Given the description of an element on the screen output the (x, y) to click on. 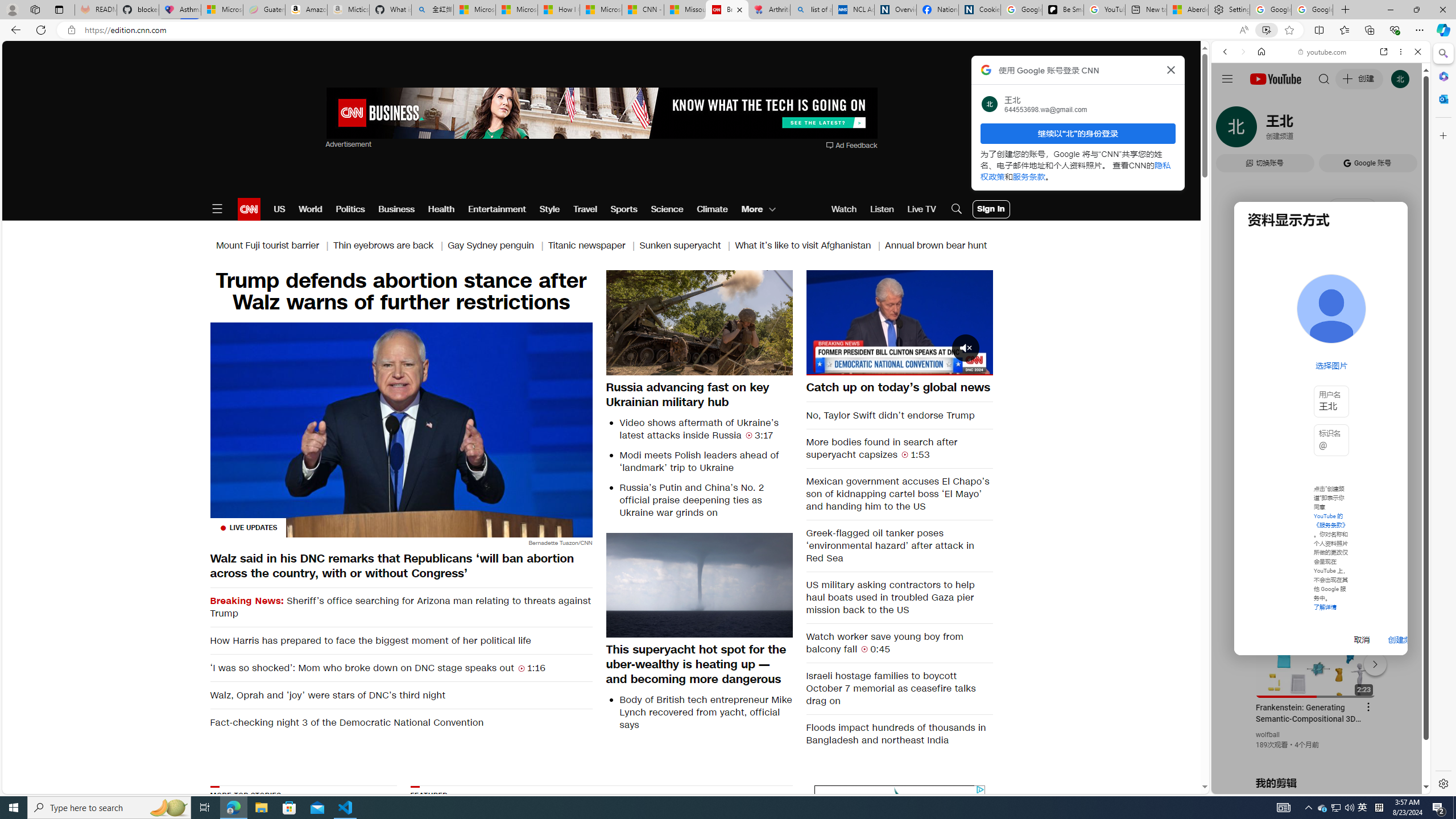
US (279, 209)
Fact-checking night 3 of the Democratic National Convention (400, 721)
Captions Unavailable (927, 365)
Fullscreen (976, 365)
